Given the description of an element on the screen output the (x, y) to click on. 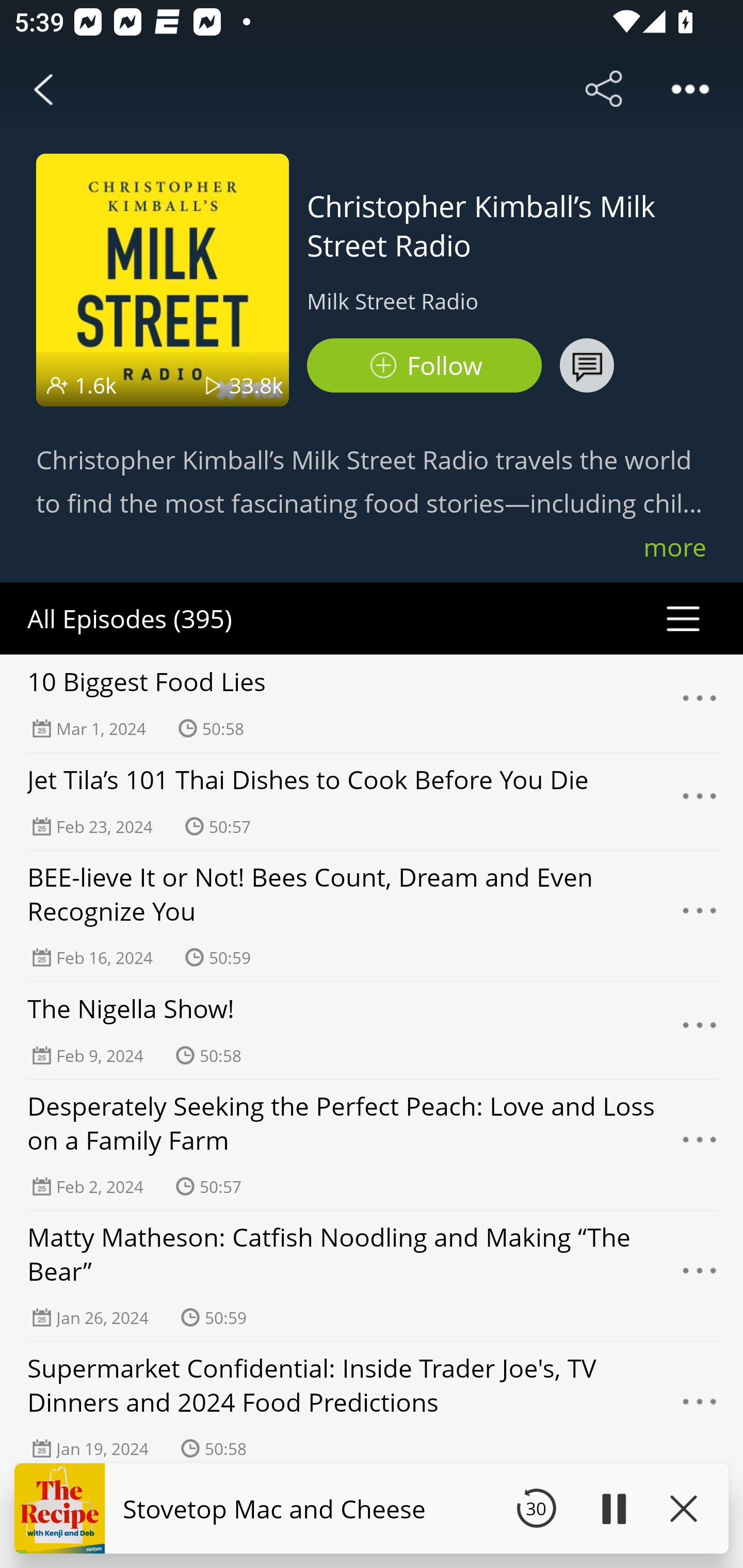
Back (43, 88)
Podbean Follow (423, 365)
1.6k (95, 384)
more (674, 546)
10 Biggest Food Lies Mar 1, 2024 50:58 Menu (371, 702)
Menu (699, 703)
Menu (699, 801)
Menu (699, 916)
The Nigella Show! Feb 9, 2024 50:58 Menu (371, 1029)
Menu (699, 1030)
Menu (699, 1145)
Menu (699, 1275)
Menu (699, 1407)
Play (613, 1507)
30 Seek Backward (536, 1508)
